Given the description of an element on the screen output the (x, y) to click on. 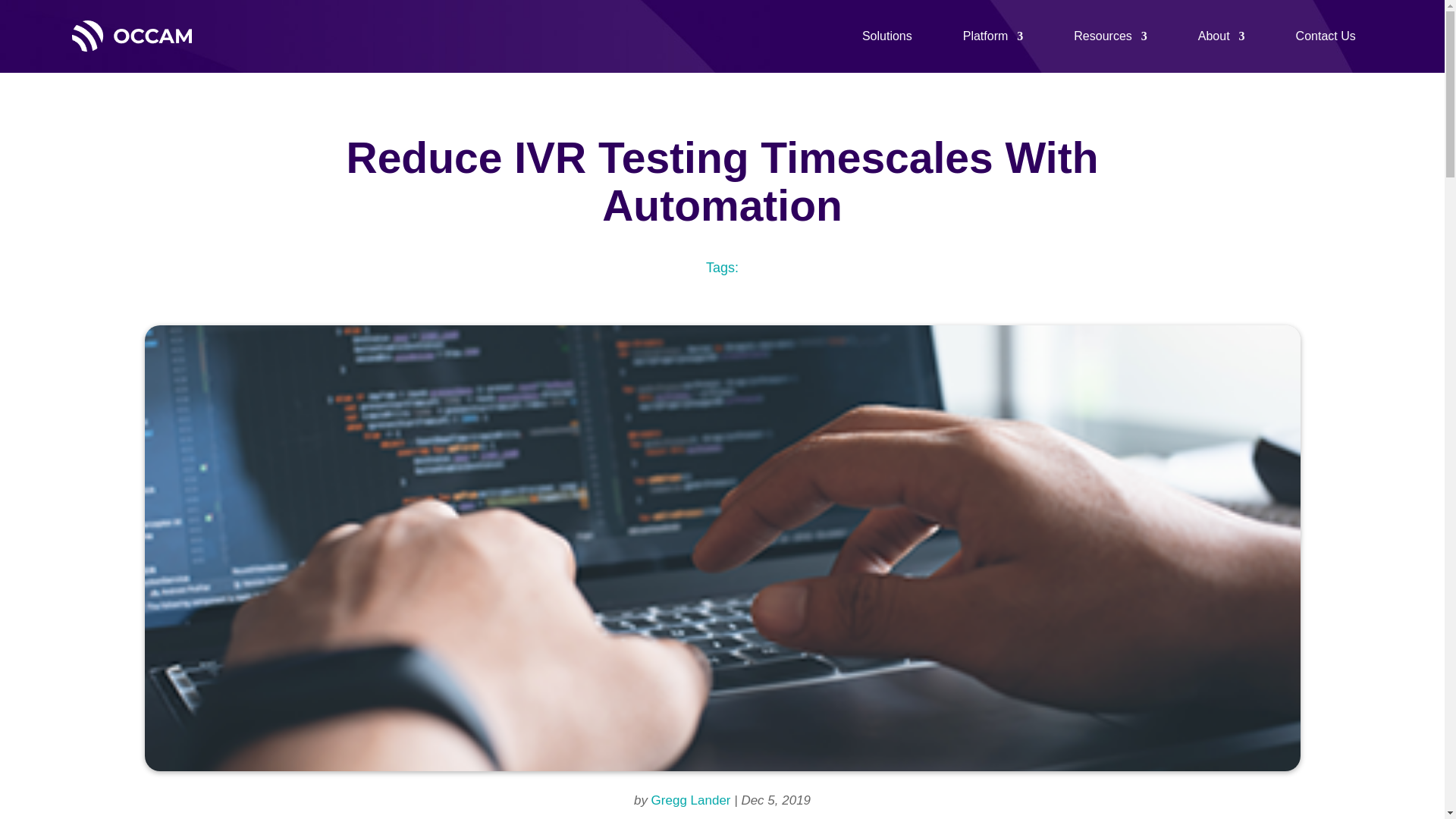
Posts by Gregg Lander (690, 800)
Resources (1110, 36)
Platform (992, 36)
Solutions (886, 36)
Gregg Lander (690, 800)
Contact Us (1325, 36)
About (1221, 36)
